Given the description of an element on the screen output the (x, y) to click on. 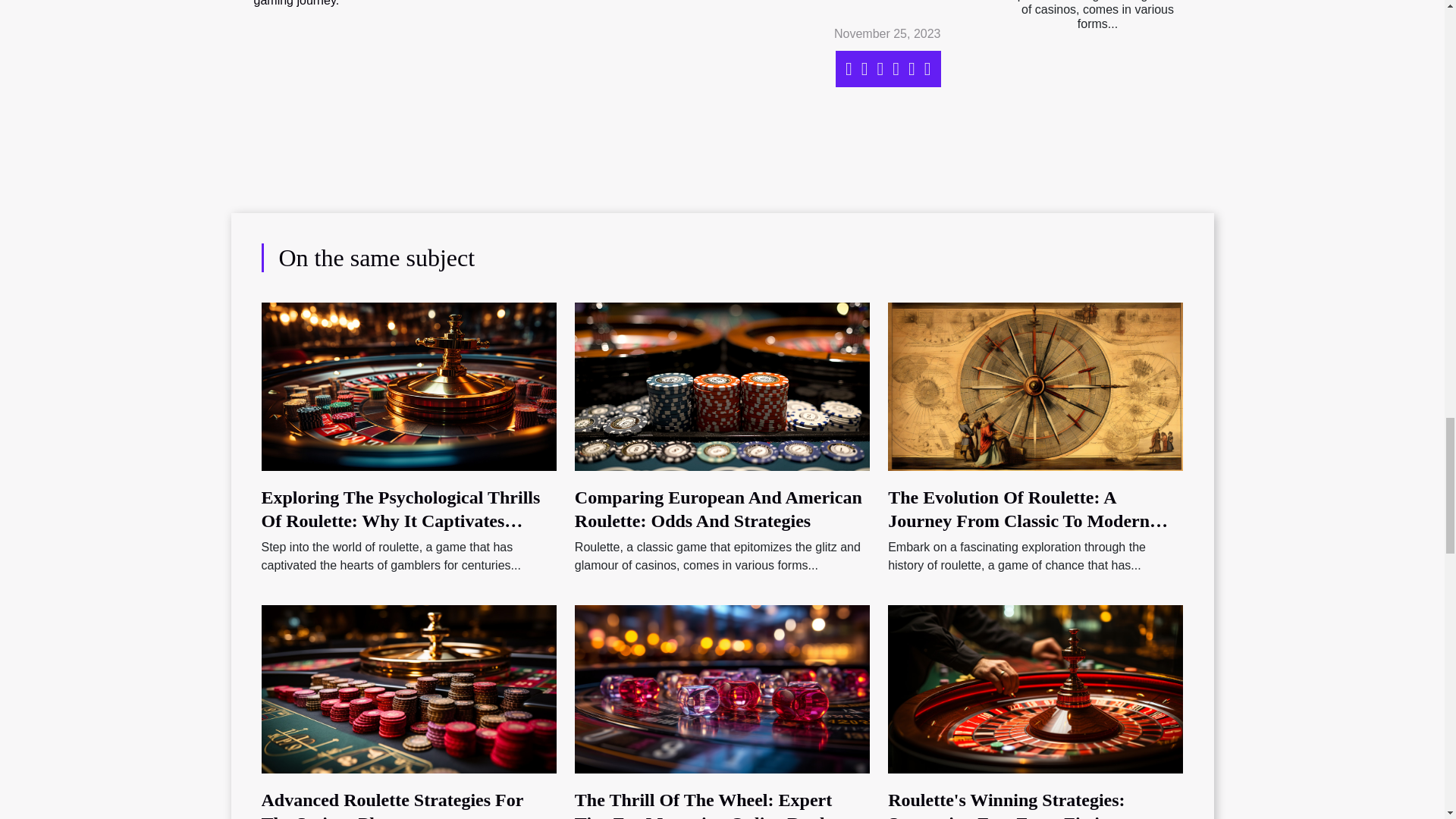
Advanced Roulette Strategies For The Serious Player (408, 688)
